Given the description of an element on the screen output the (x, y) to click on. 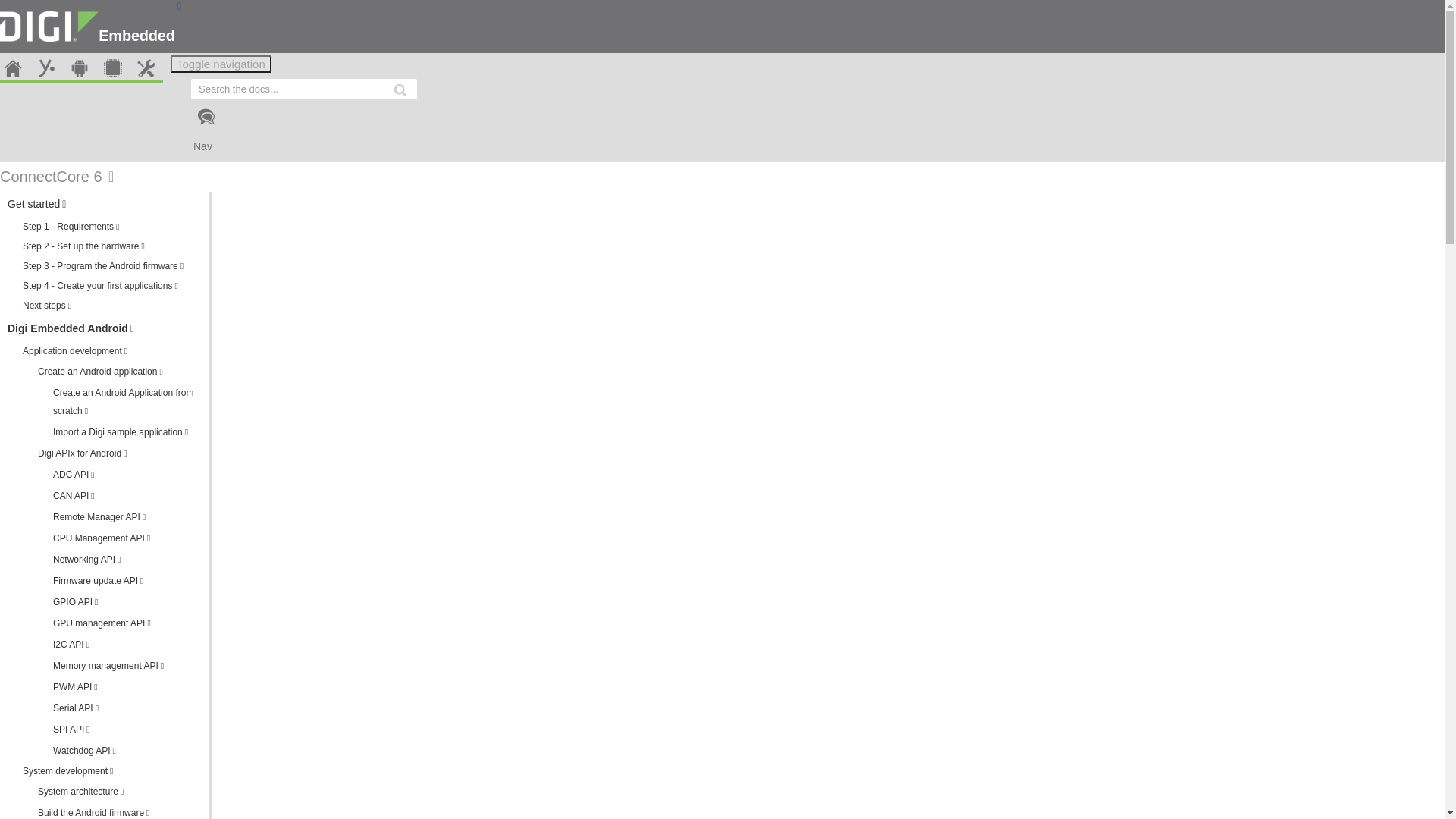
Nav (614, 146)
Toggle navigation (220, 63)
Embedded (705, 6)
